Given the description of an element on the screen output the (x, y) to click on. 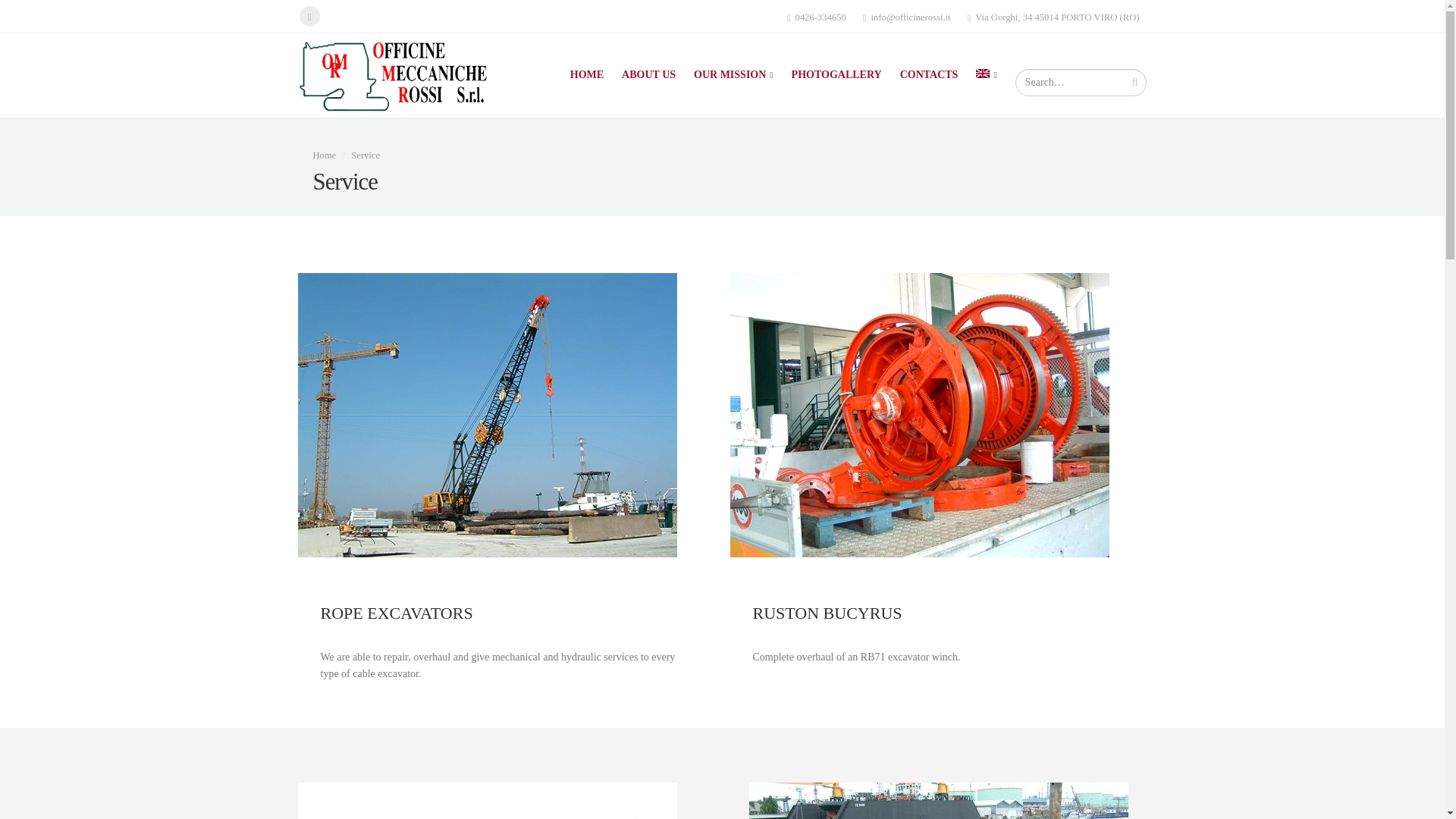
OFFICINE MECCANICHE  ROSSI SRL -  (391, 75)
HOME (586, 65)
OUR MISSION (733, 65)
Youtube (308, 15)
Search (1135, 82)
freni (487, 800)
Home (324, 155)
INSTALLAZIONE RALLA (938, 800)
PHOTOGALLERY (837, 65)
RUSTON BUCYRUS (918, 414)
CONTACTS (929, 65)
ABOUT US (648, 65)
